Given the description of an element on the screen output the (x, y) to click on. 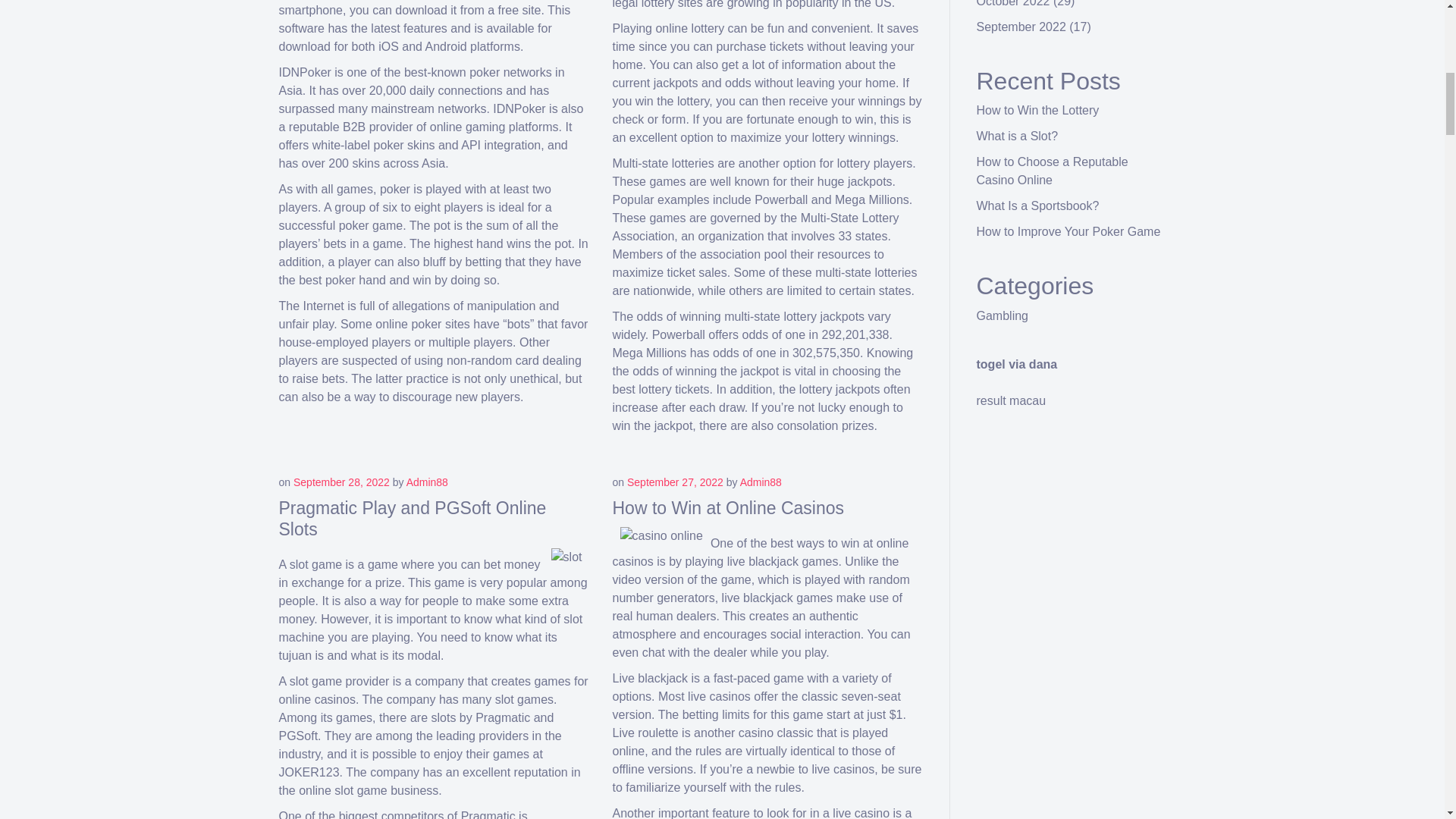
Admin88 (427, 481)
How to Win at Online Casinos (728, 507)
Pragmatic Play and PGSoft Online Slots (413, 517)
September 27, 2022 (675, 481)
Admin88 (760, 481)
September 28, 2022 (342, 481)
